Given the description of an element on the screen output the (x, y) to click on. 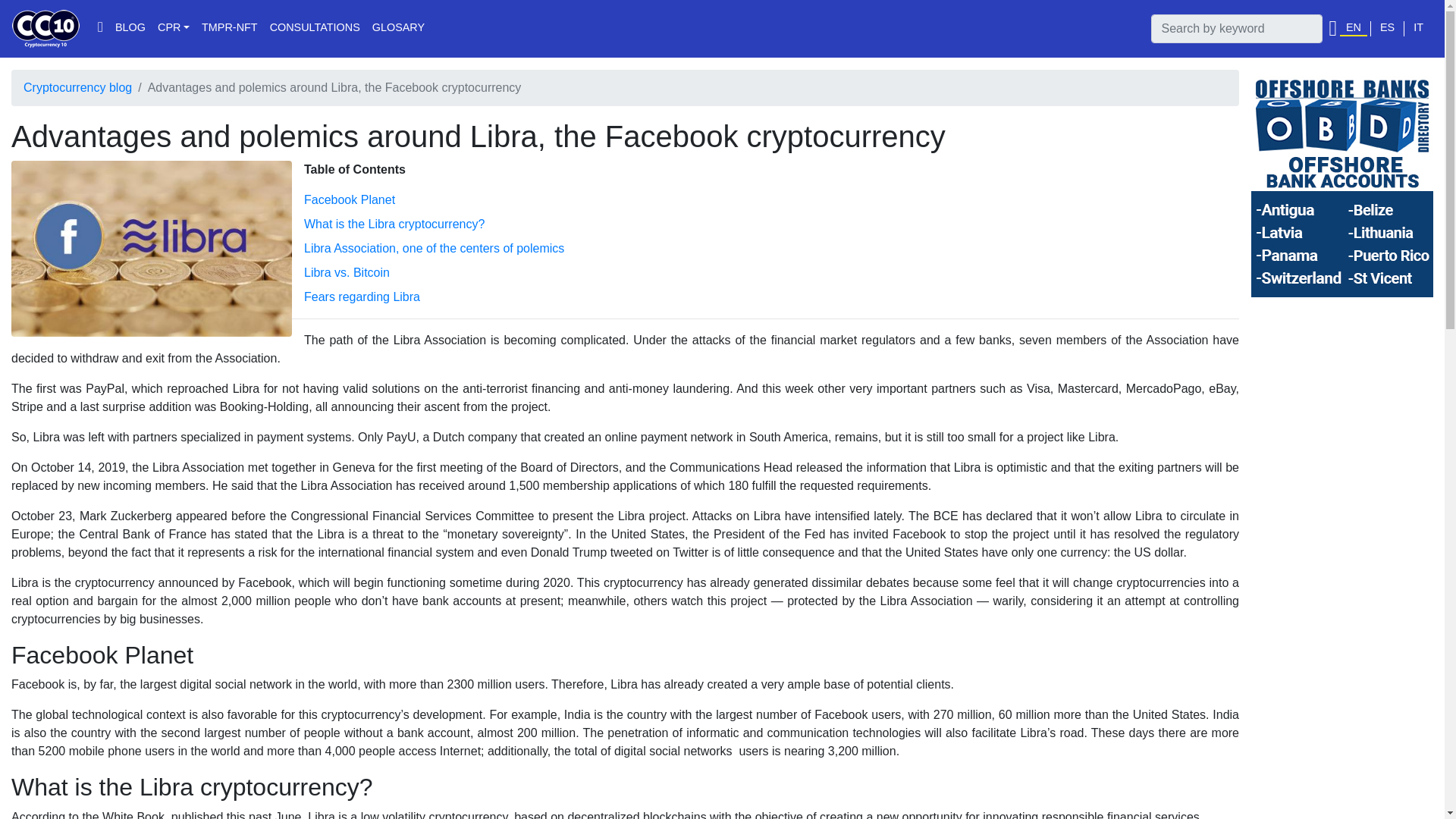
ES (1387, 28)
CPR (173, 28)
Fears regarding Libra (362, 296)
Libra Association, one of the centers of polemics (434, 247)
Cryptocurrencies Public Register (173, 28)
Facebook Planet (349, 199)
IT (1418, 28)
Cryptocurrency10.com (45, 28)
BLOG (130, 28)
Libra vs. Bitcoin (347, 272)
What is the Libra cryptocurrency? (394, 223)
EN (1353, 28)
TMPR-NFT (229, 28)
Cryptocurrency blog (77, 87)
